Given the description of an element on the screen output the (x, y) to click on. 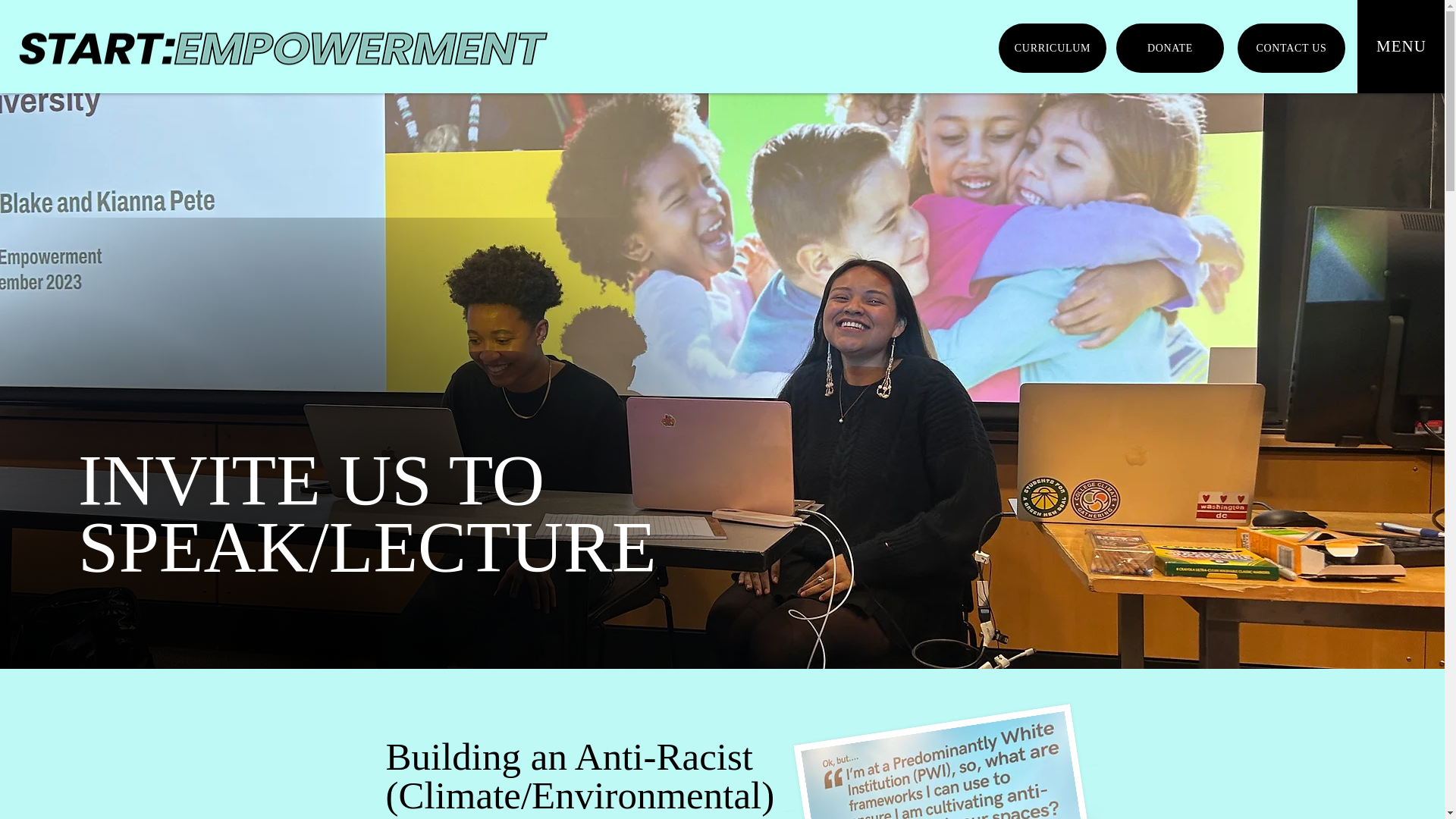
CONTACT US (1291, 47)
CURRICULUM (1052, 47)
DONATE (1170, 47)
